Given the description of an element on the screen output the (x, y) to click on. 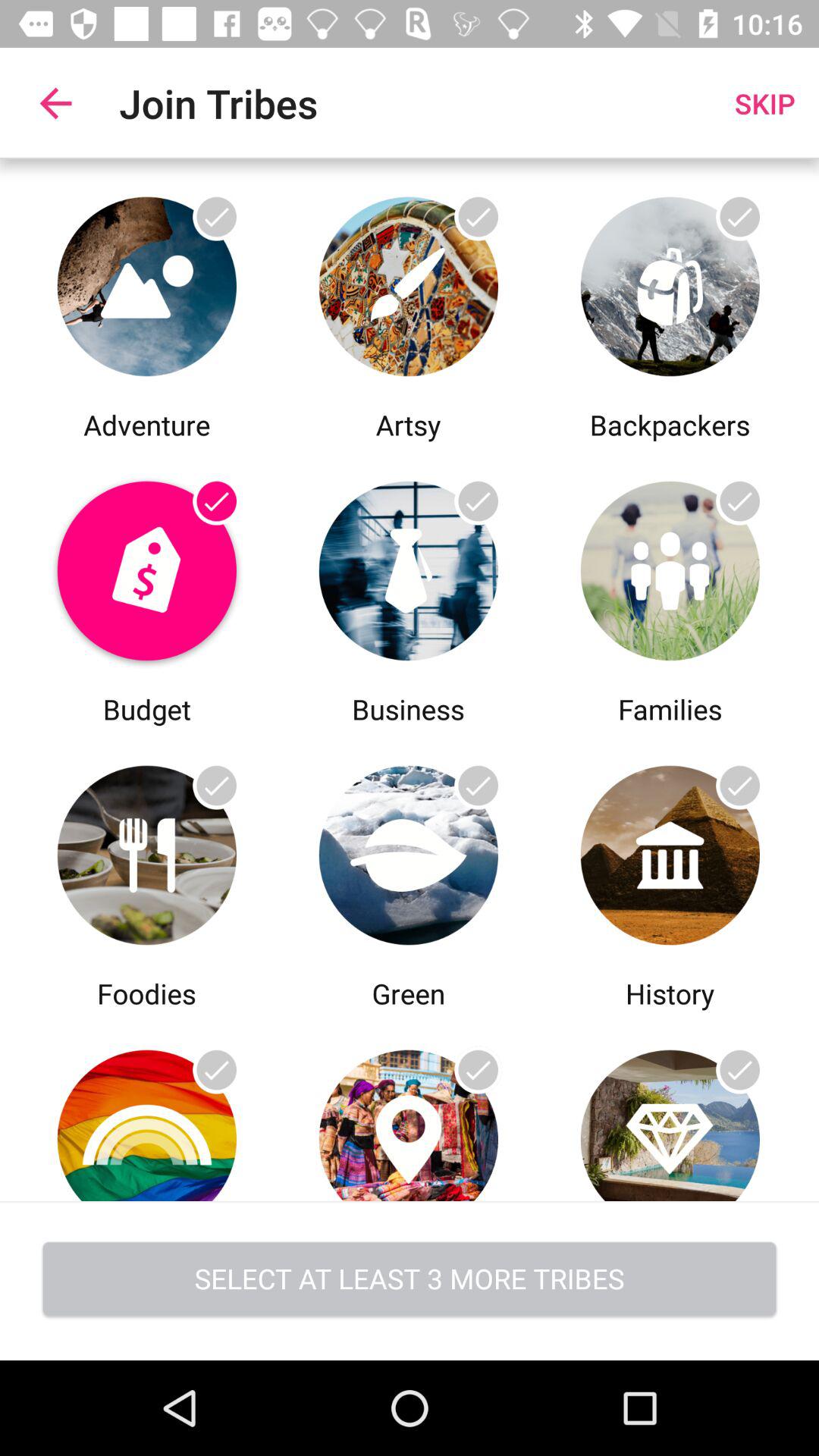
share the article (408, 566)
